Given the description of an element on the screen output the (x, y) to click on. 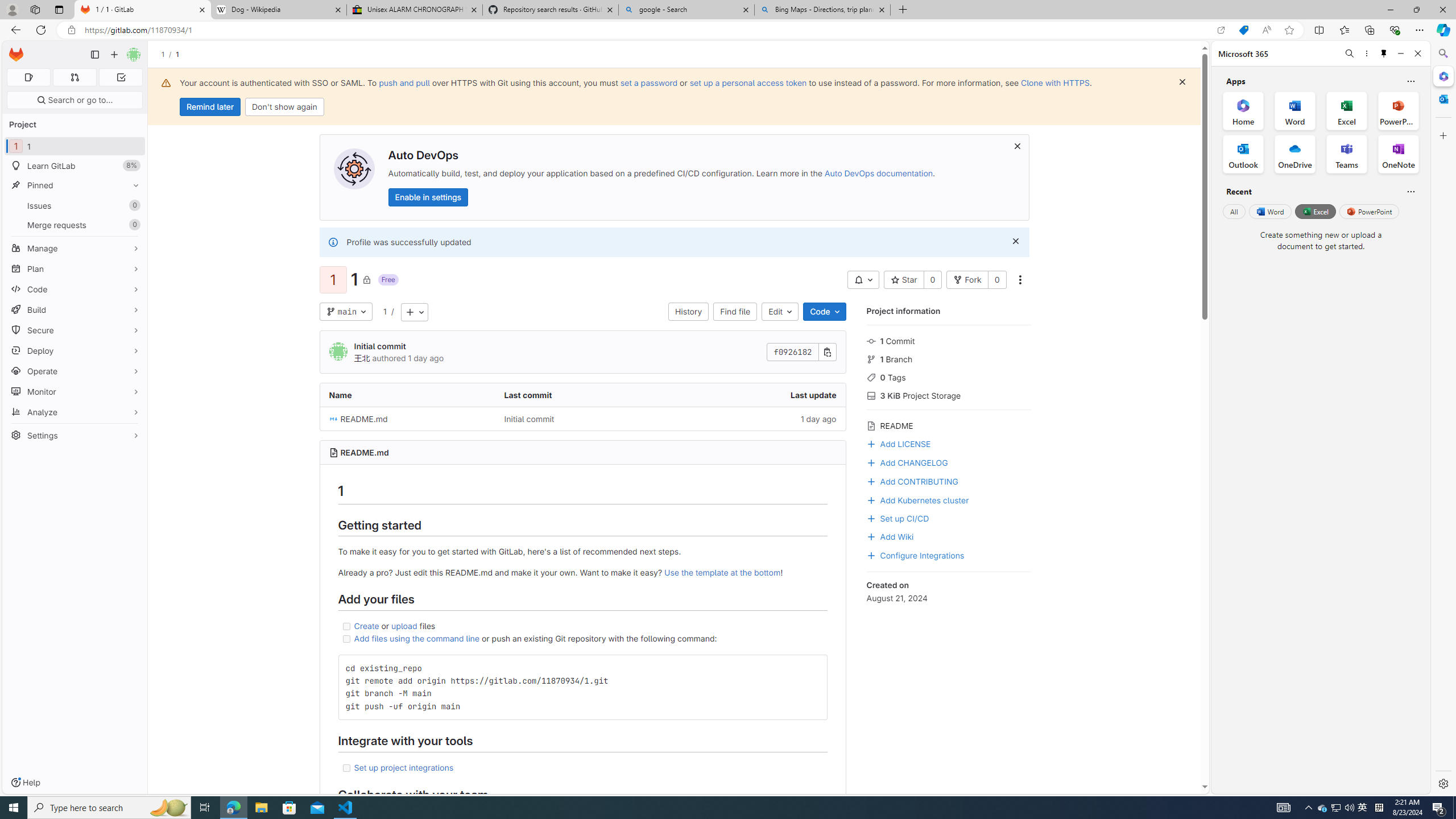
Collections (1369, 29)
Add CHANGELOG (906, 461)
push and pull (403, 82)
Class: s16 gl-mr-3 (871, 536)
Tab actions menu (58, 9)
Fork (967, 280)
Class: s16 gl-icon gl-button-icon  (1015, 240)
PowerPoint Office App (1398, 110)
3 KiB Project Storage (948, 394)
Settings and more (Alt+F) (1419, 29)
1 (384, 311)
Copy commit SHA (827, 352)
